Given the description of an element on the screen output the (x, y) to click on. 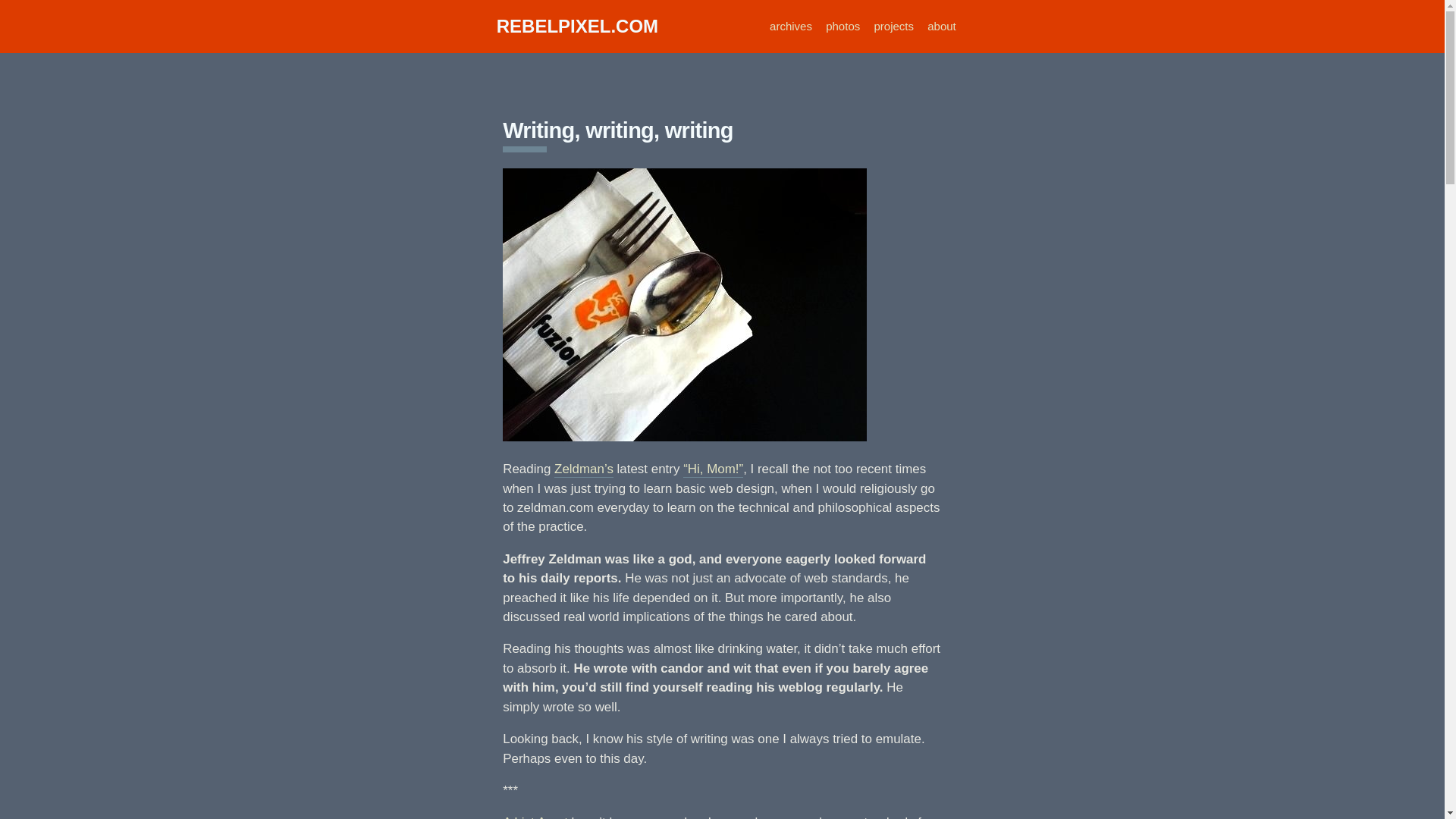
REBELPIXEL.COM (577, 25)
photos (842, 25)
projects (893, 25)
about (941, 25)
rebelpixel.com (577, 25)
Permanent Link: Writing, writing, writing (617, 129)
Writing, writing, writing (617, 129)
archives (791, 25)
A List Apart (534, 816)
